Given the description of an element on the screen output the (x, y) to click on. 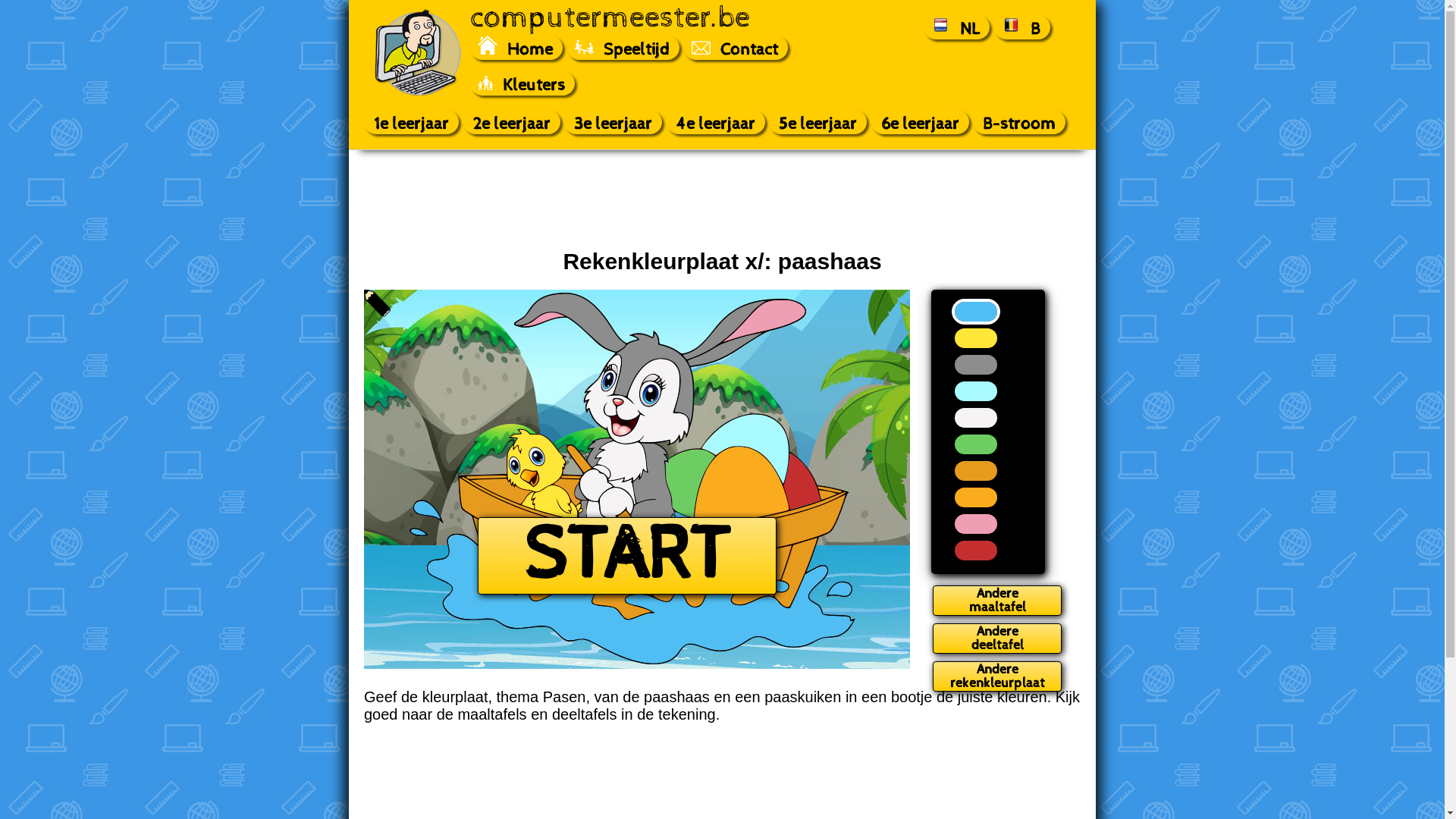
6e leerjaar Element type: text (920, 121)
3e leerjaar Element type: text (613, 121)
Advertisement Element type: hover (721, 199)
Home Element type: text (516, 47)
Logo computermeester Element type: hover (416, 52)
Contact Element type: text (735, 47)
Andere maaltafel Element type: text (996, 600)
1e leerjaar Element type: text (411, 121)
4e leerjaar Element type: text (715, 121)
B-stroom Element type: text (1018, 121)
5e leerjaar Element type: text (817, 121)
Andere rekenkleurplaat Element type: text (996, 676)
2e leerjaar Element type: text (511, 121)
Speeltijd Element type: text (623, 47)
NL Element type: text (956, 27)
Kleuters Element type: text (522, 83)
B Element type: text (1022, 27)
Andere deeltafel Element type: text (996, 638)
START Element type: text (626, 555)
